Given the description of an element on the screen output the (x, y) to click on. 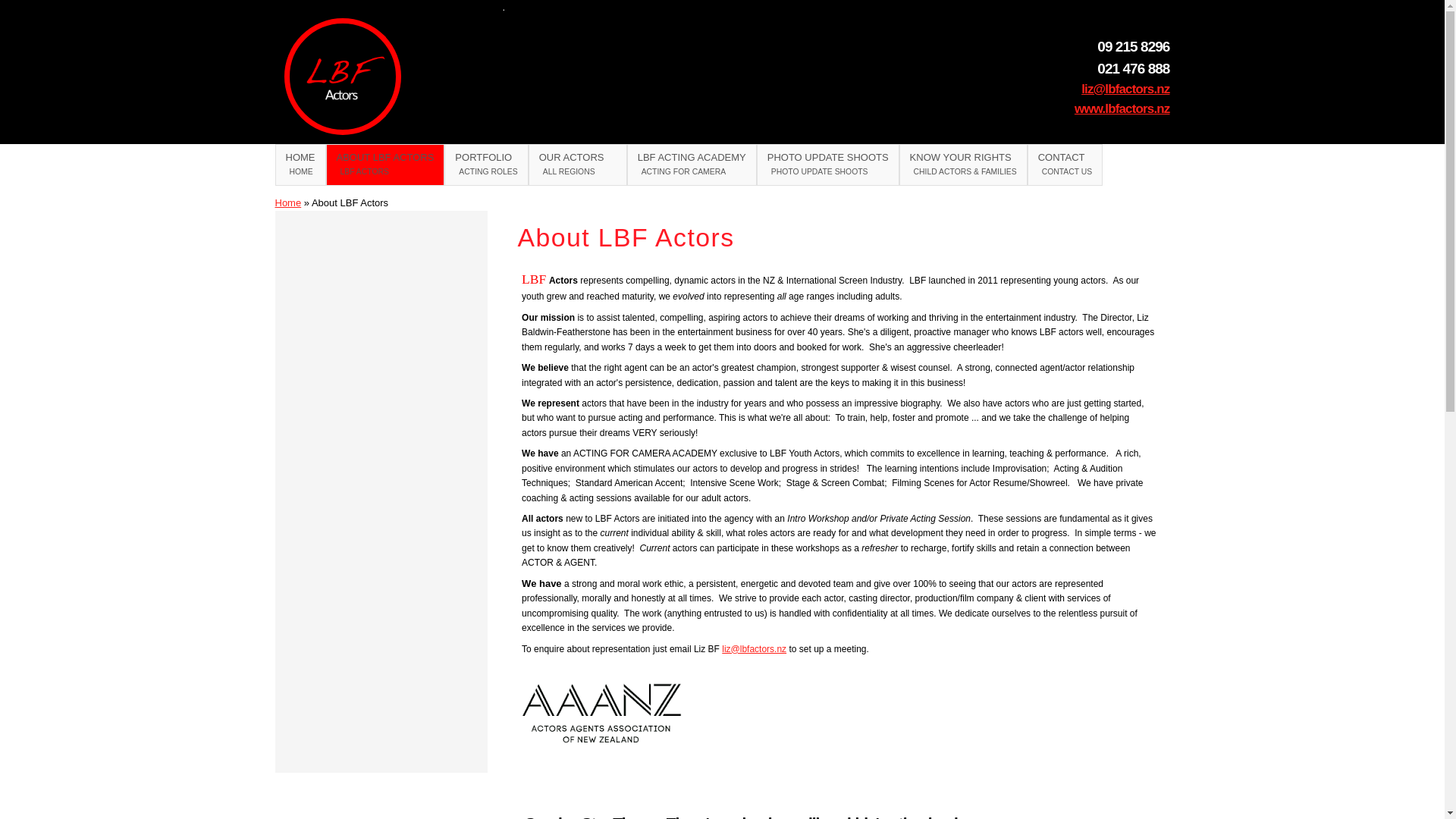
ACTING FOR CAMERA (692, 164)
Actors Agents Association of New Zealand (601, 712)
all regions (577, 164)
Skip to main content (693, 1)
contact us (1065, 164)
www.lbfactors.nz (299, 164)
Acting Roles (1122, 108)
Photo Update Shoots (485, 164)
home (828, 164)
LBF Actors (828, 164)
Home (299, 164)
